Given the description of an element on the screen output the (x, y) to click on. 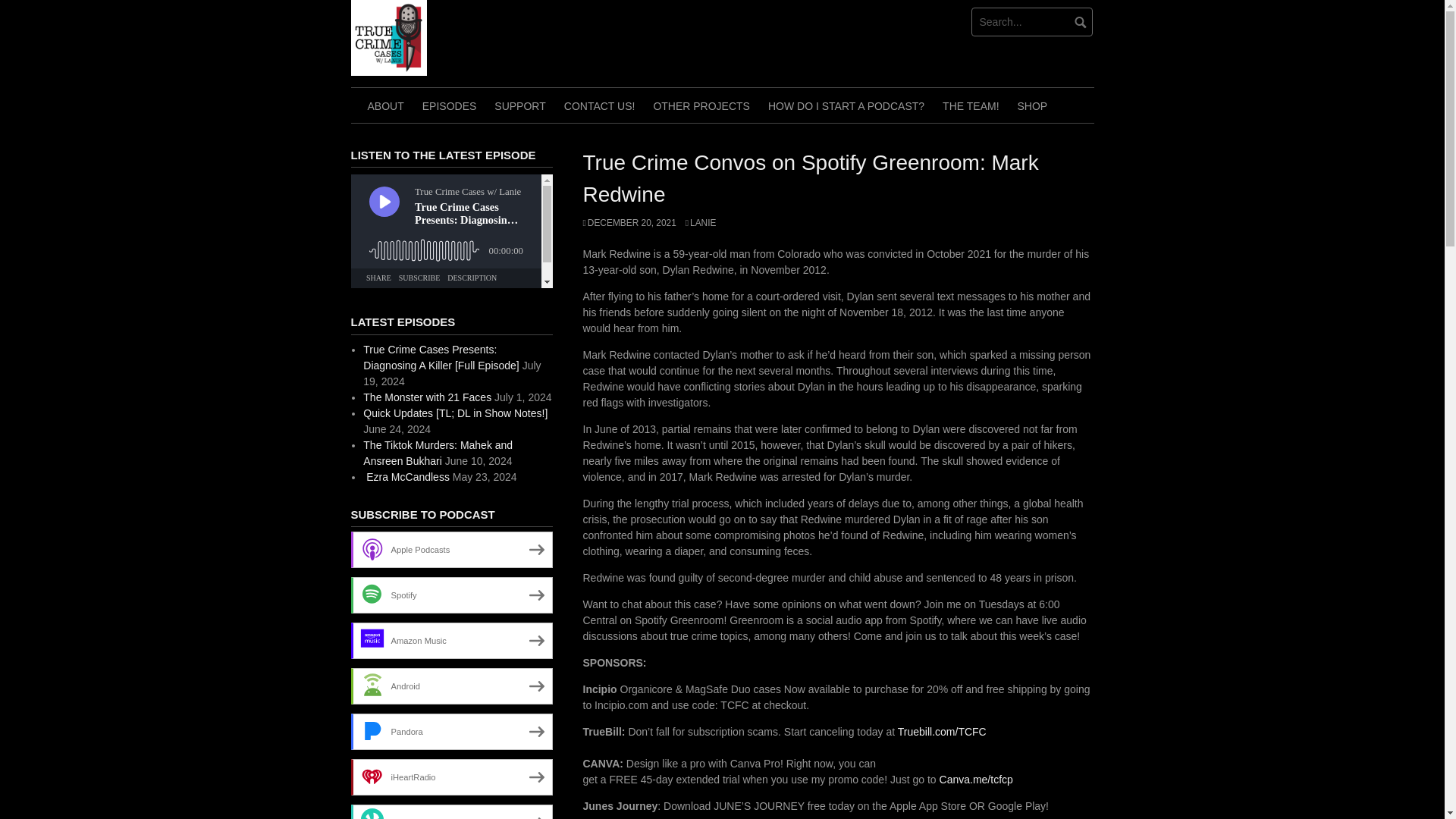
CONTACT US! (599, 104)
THE TEAM! (970, 104)
Search for: (1031, 21)
Subscribe on Pandora (450, 731)
EPISODES (449, 104)
SUPPORT (519, 104)
Subscribe on Apple Podcasts (450, 549)
Subscribe on Spotify (450, 595)
DECEMBER 20, 2021 (628, 222)
OTHER PROJECTS (700, 104)
Subscribe on Android (450, 686)
Subscribe on Amazon Music (450, 640)
ABOUT (385, 104)
HOW DO I START A PODCAST? (845, 104)
LANIE (700, 222)
